Given the description of an element on the screen output the (x, y) to click on. 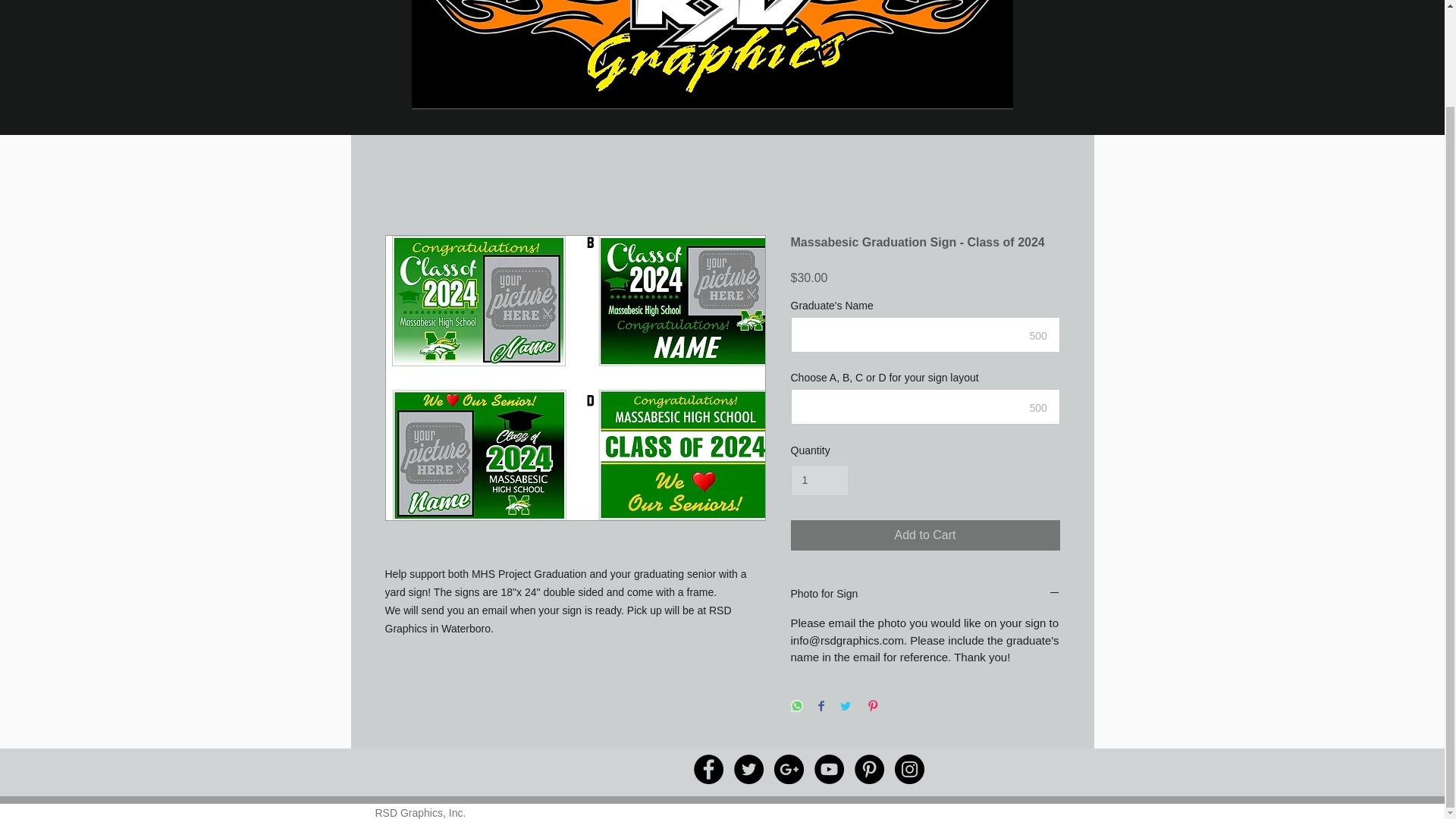
Add to Cart (924, 535)
Photo for Sign (924, 594)
1 (818, 480)
